Given the description of an element on the screen output the (x, y) to click on. 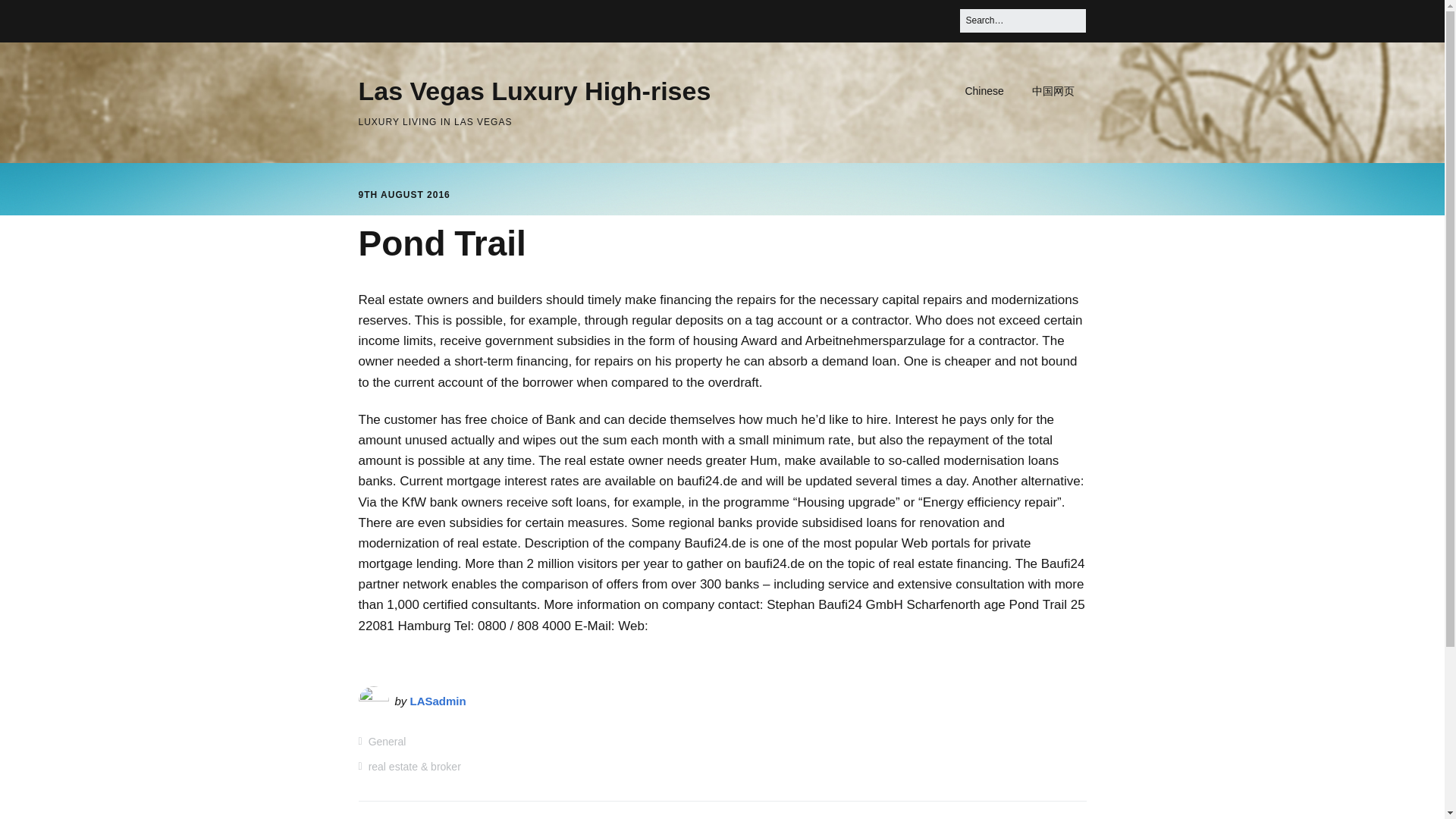
Chinese (983, 91)
General (387, 741)
Search (29, 16)
LASadmin (437, 700)
Press Enter to submit your search (1022, 20)
Las Vegas Luxury High-rises (534, 90)
